Given the description of an element on the screen output the (x, y) to click on. 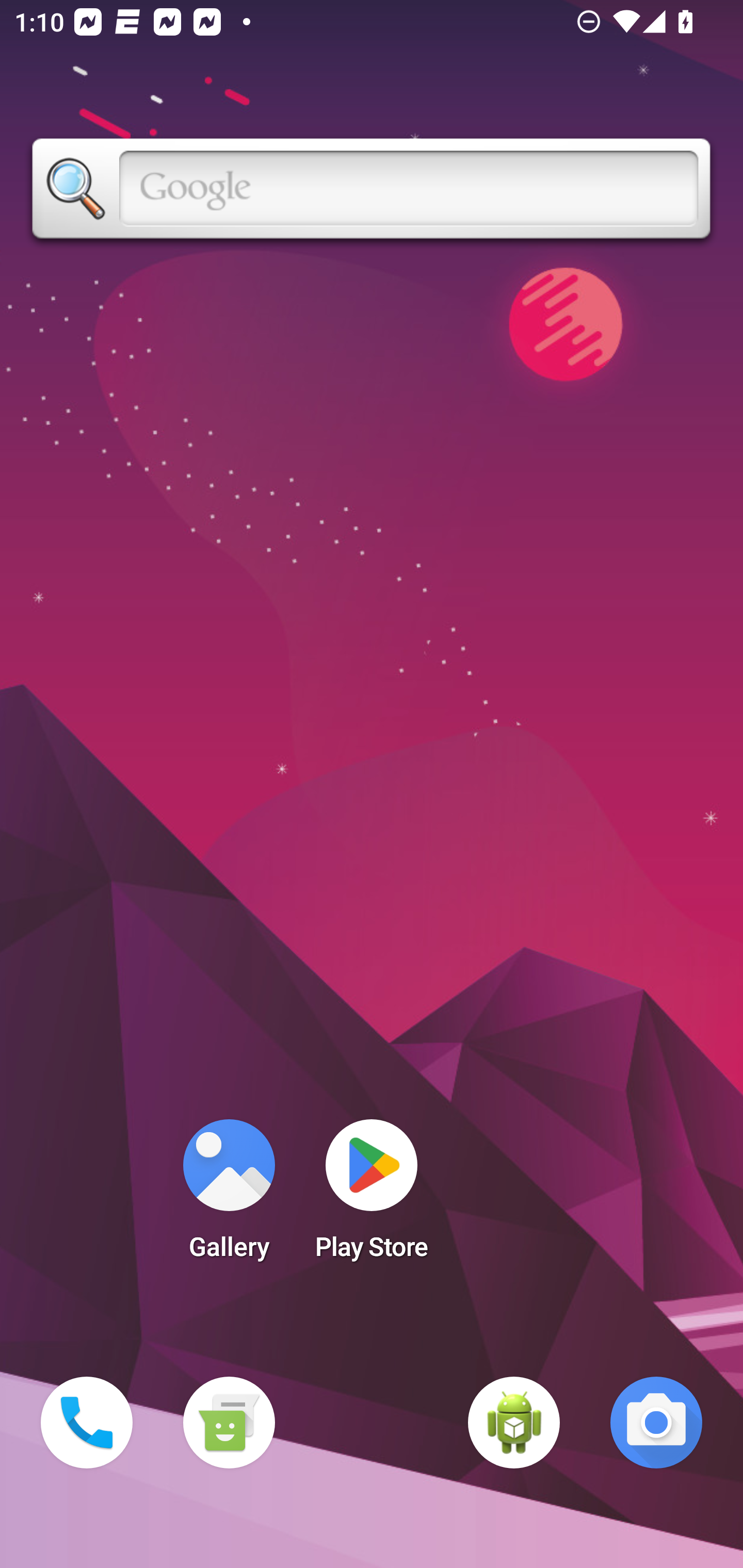
Gallery (228, 1195)
Play Store (371, 1195)
Phone (86, 1422)
Messaging (228, 1422)
WebView Browser Tester (513, 1422)
Camera (656, 1422)
